Given the description of an element on the screen output the (x, y) to click on. 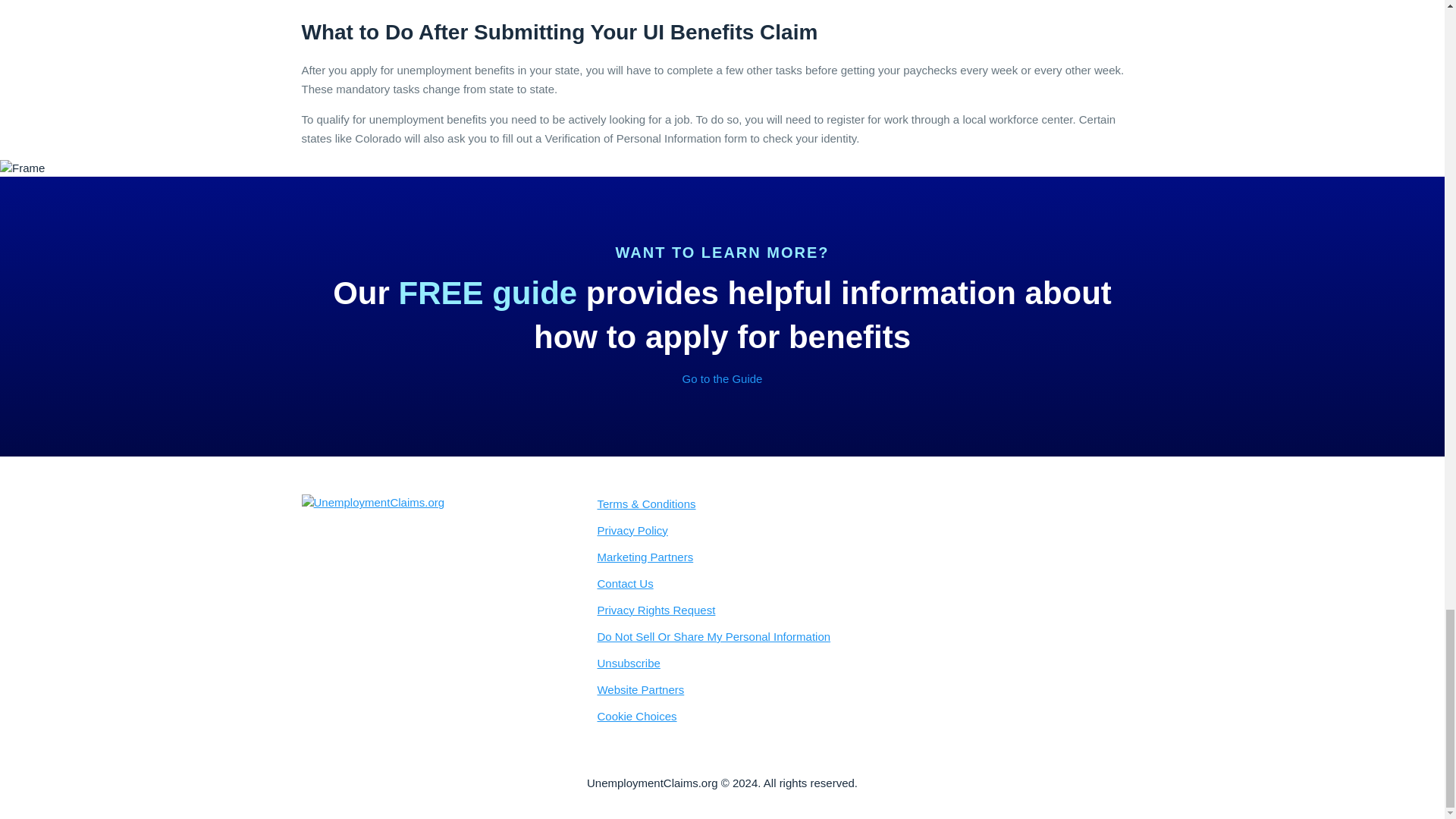
Unsubscribe (865, 663)
Do Not Sell Or Share My Personal Information (865, 636)
Do Not Sell Or Share My Personal Information (865, 636)
Privacy Rights Request (865, 610)
Privacy Policy (865, 529)
Privacy Policy (865, 529)
Cookie Choices (865, 715)
Contact Us (865, 583)
Privacy Rights Request (865, 610)
Go to the Guide (722, 379)
